Given the description of an element on the screen output the (x, y) to click on. 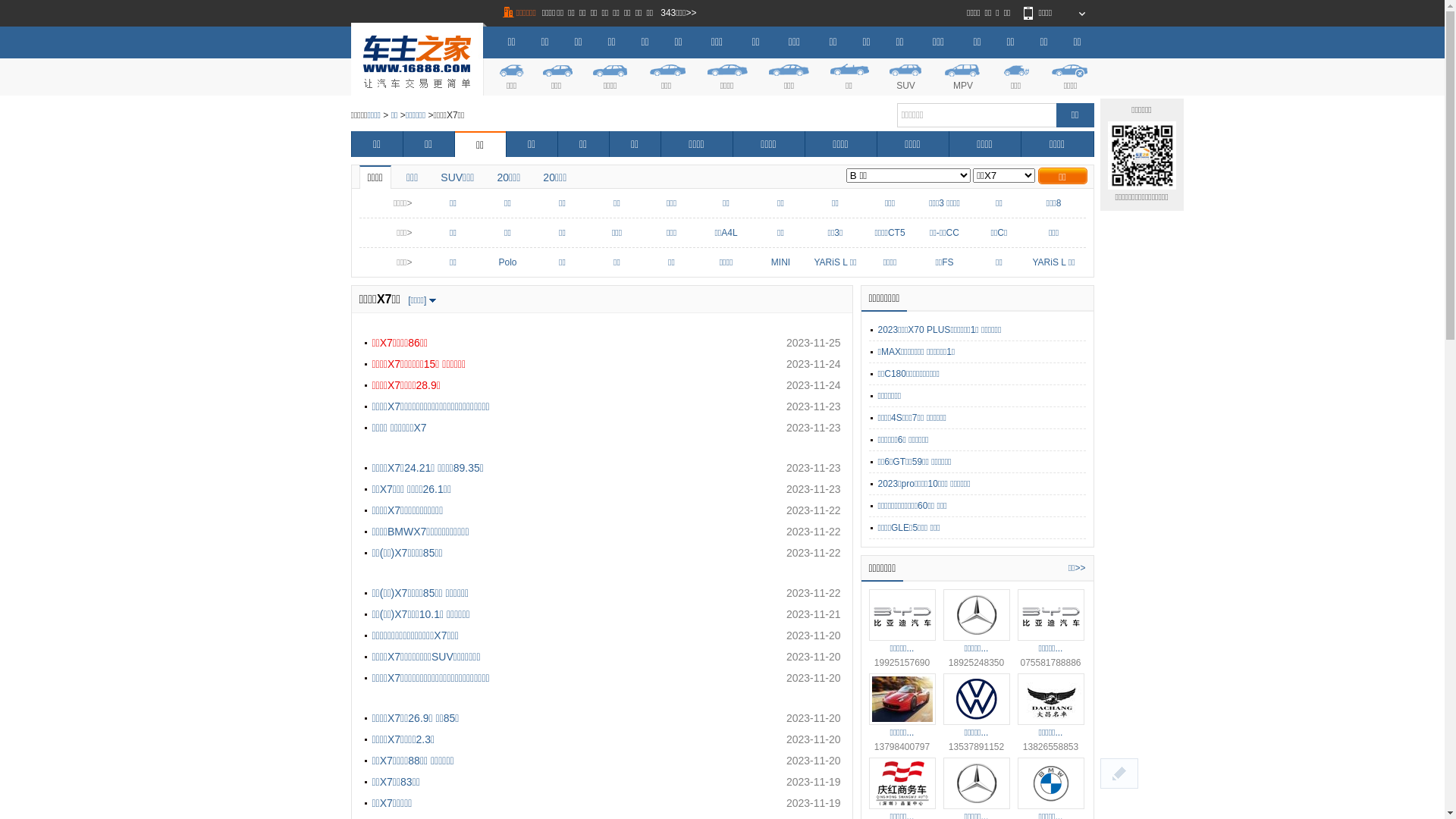
Polo Element type: text (507, 262)
MINI Element type: text (780, 262)
MPV Element type: text (962, 75)
SUV Element type: text (906, 75)
